Given the description of an element on the screen output the (x, y) to click on. 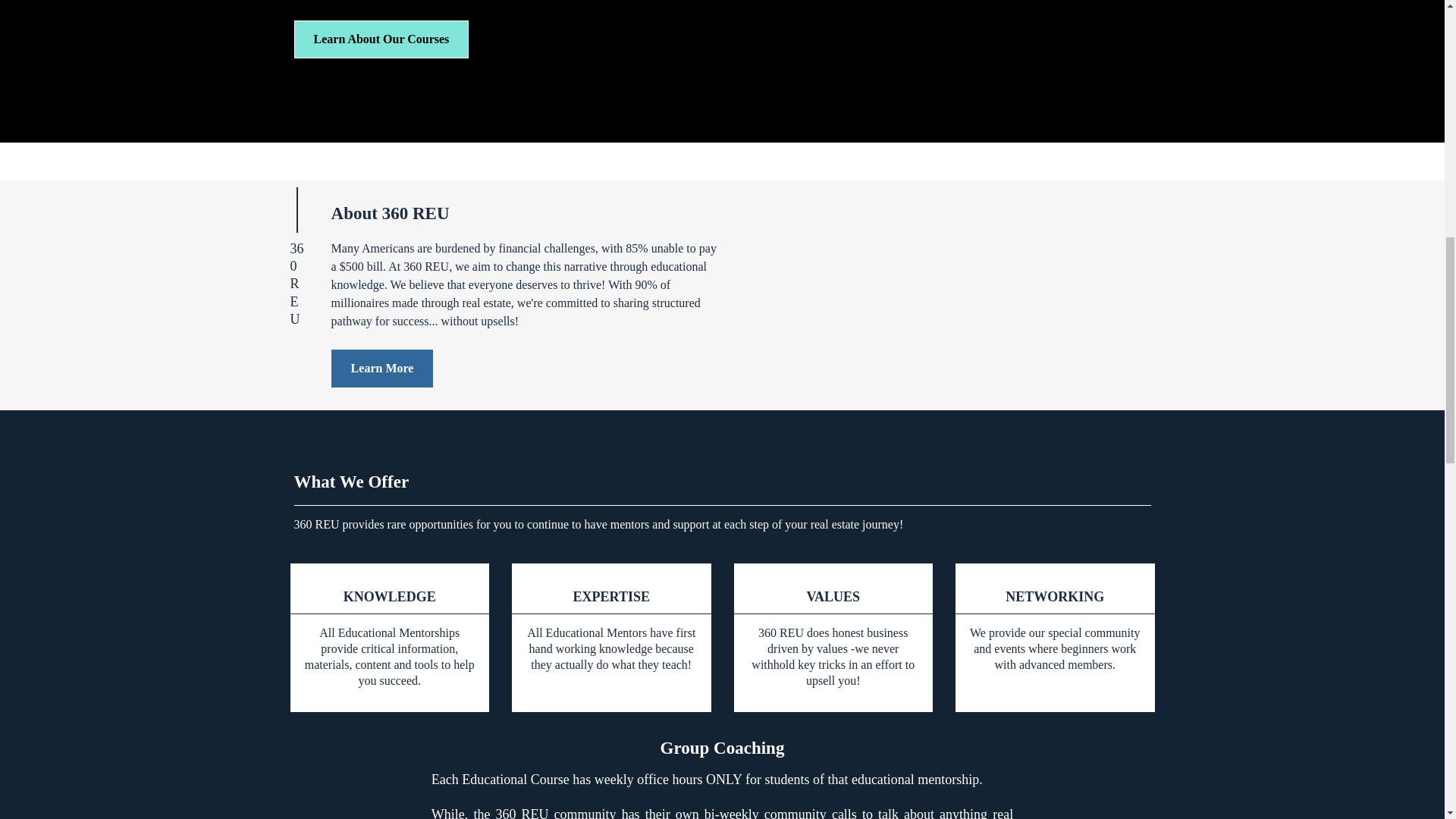
Learn More (382, 368)
Learn About Our Courses (381, 39)
